Given the description of an element on the screen output the (x, y) to click on. 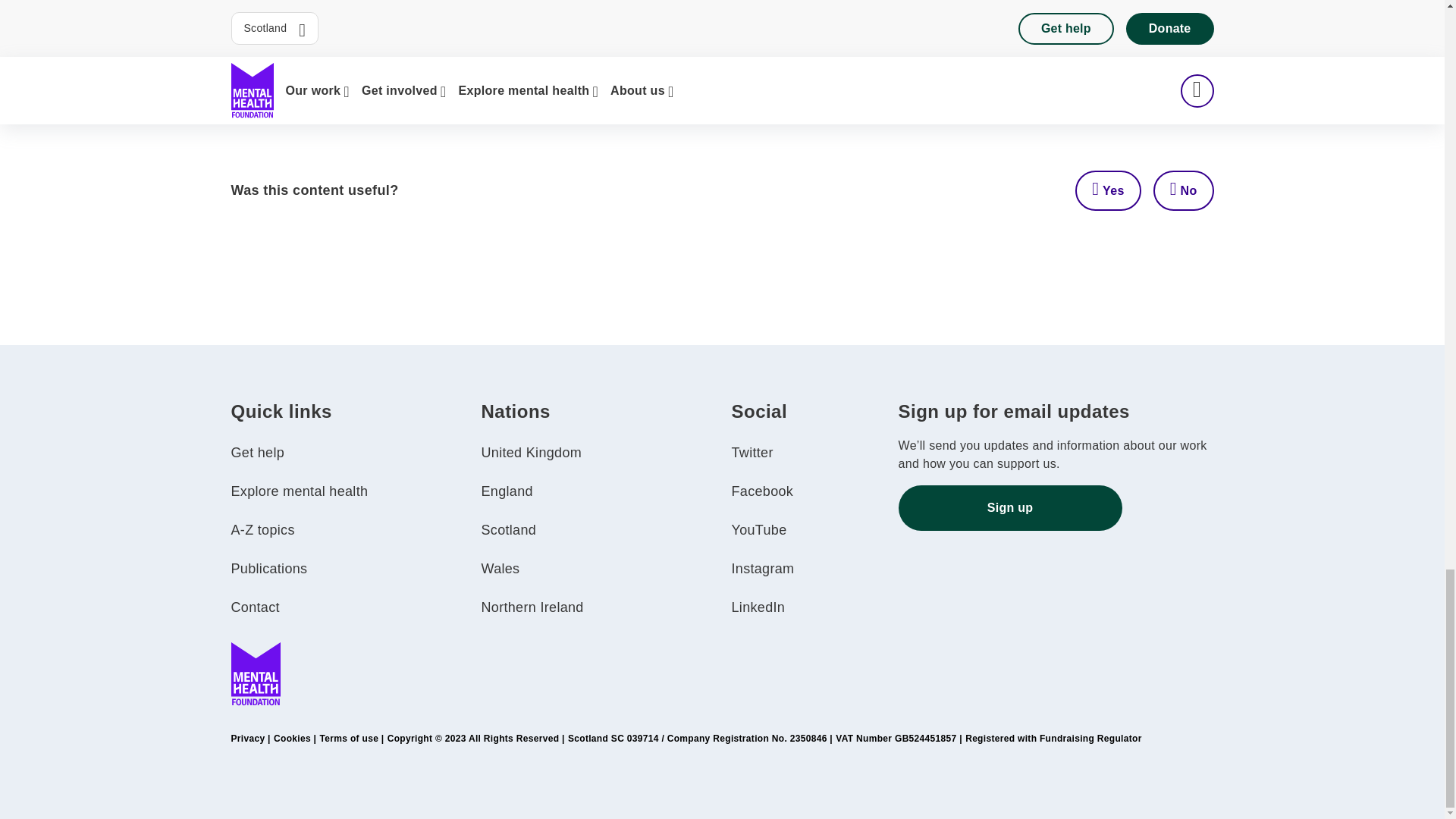
YouTube (758, 529)
Facebook (761, 491)
Twitter (751, 452)
